Given the description of an element on the screen output the (x, y) to click on. 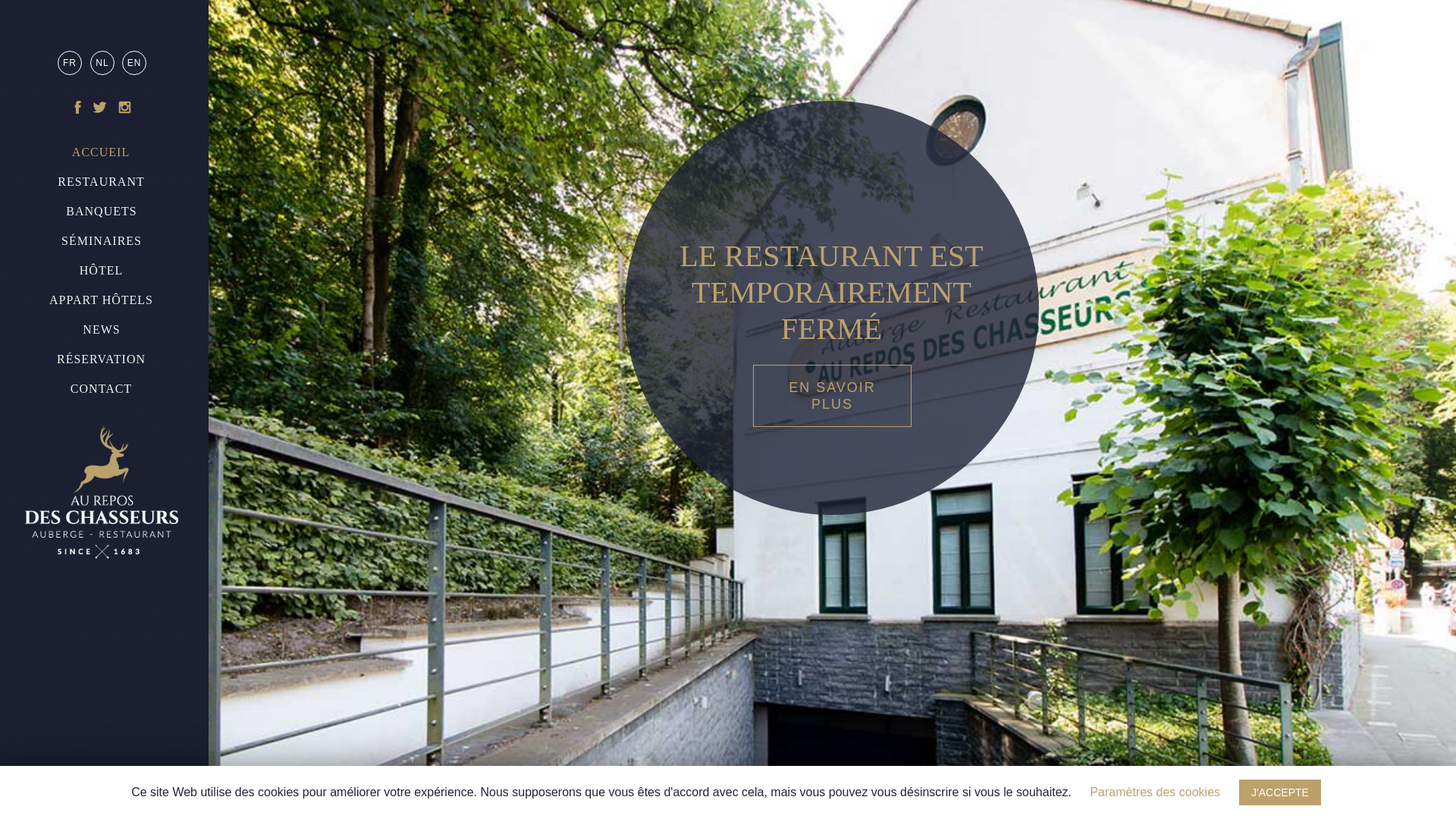
RESTAURANT Element type: text (101, 181)
NEWS Element type: text (101, 329)
EN SAVOIR PLUS Element type: text (832, 395)
BANQUETS Element type: text (101, 211)
FR Element type: text (69, 62)
NL Element type: text (102, 62)
J'ACCEPTE Element type: text (1280, 792)
ACCUEIL Element type: text (100, 152)
CONTACT Element type: text (101, 388)
EN Element type: text (134, 62)
